Given the description of an element on the screen output the (x, y) to click on. 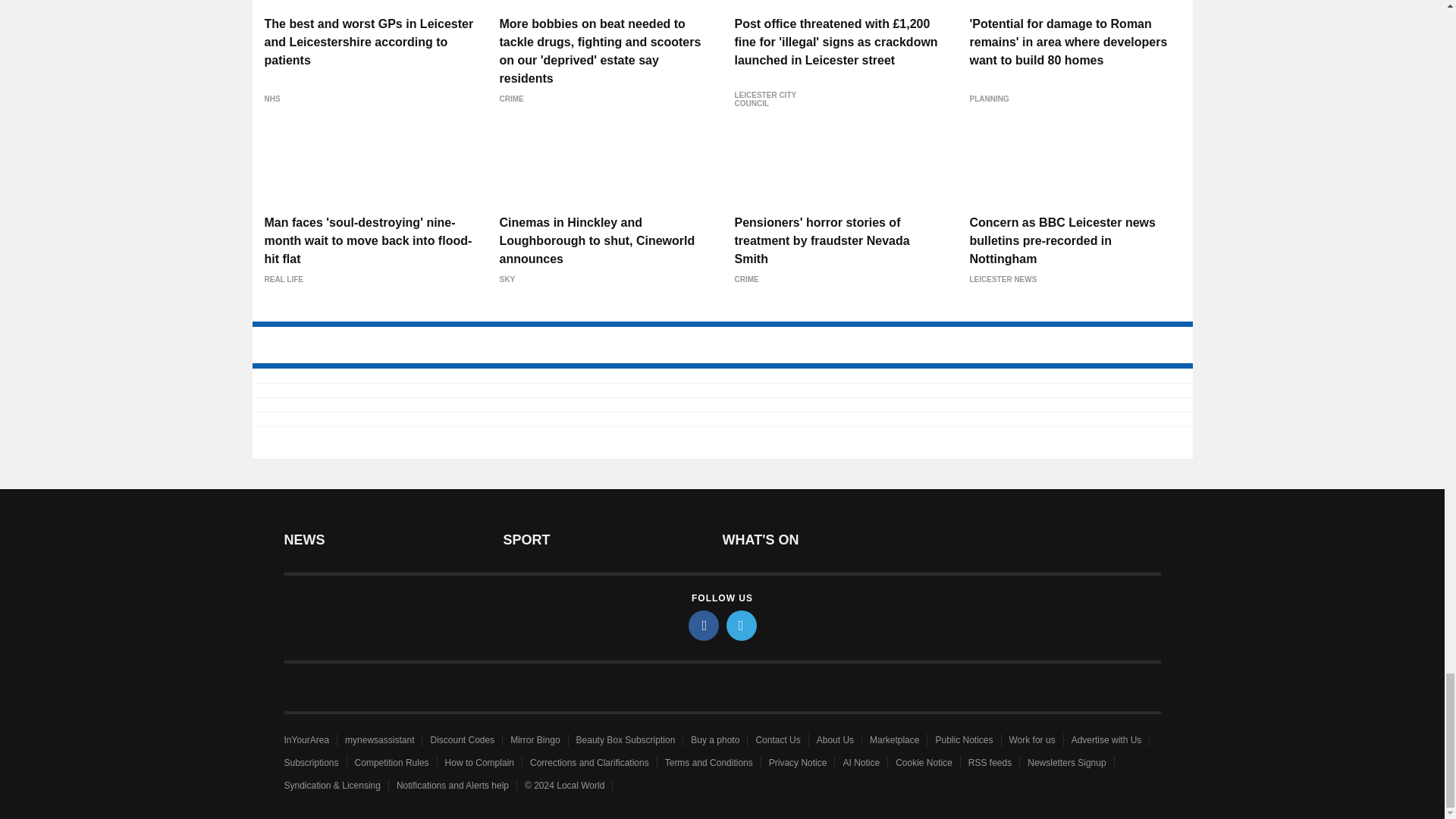
twitter (741, 625)
facebook (703, 625)
